Given the description of an element on the screen output the (x, y) to click on. 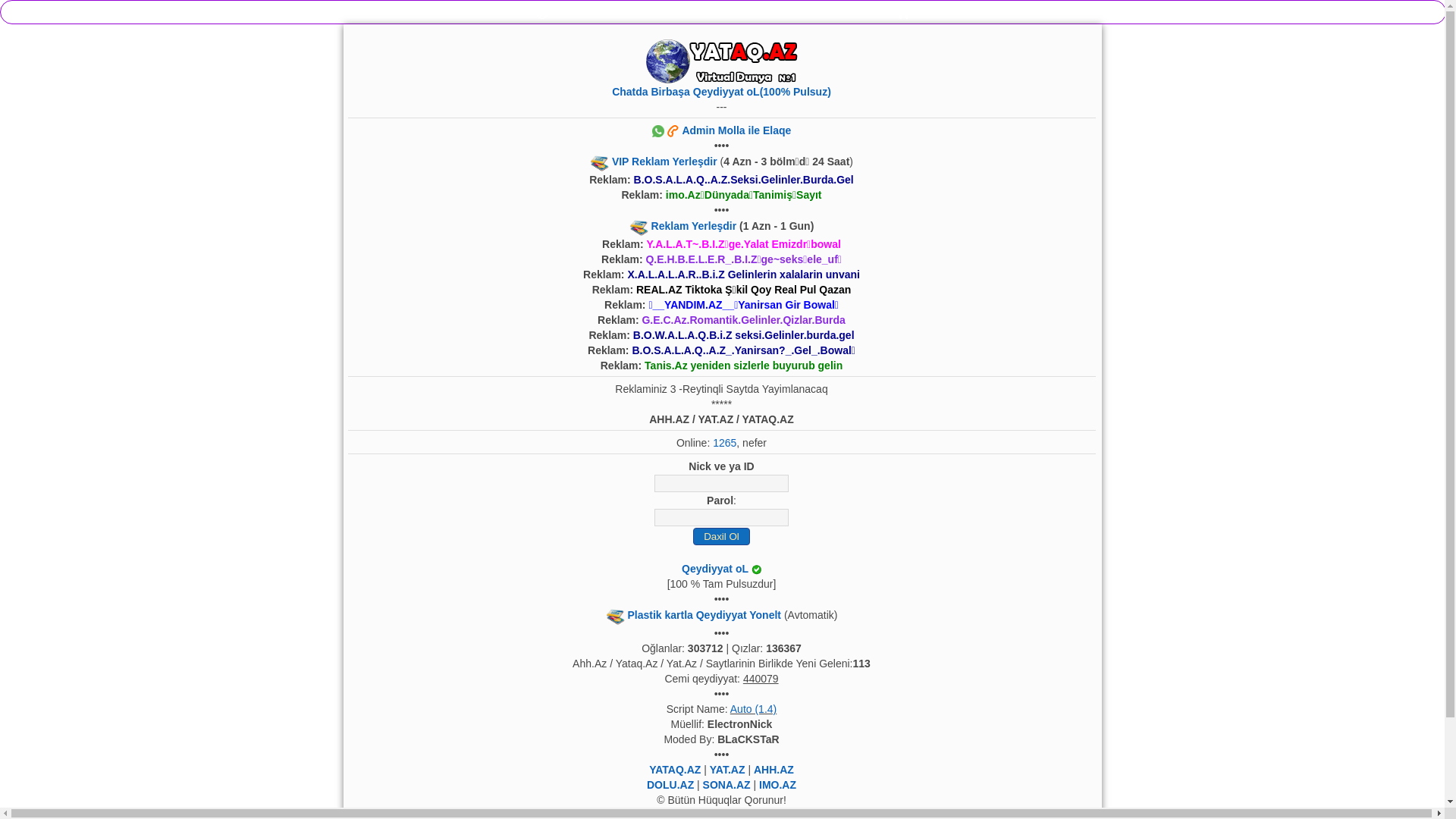
IMO.AZ Element type: text (777, 784)
Qurgular Element type: hover (1264, 11)
Bildirisler Element type: hover (541, 11)
Admin Molla ile Elaqe Element type: text (721, 130)
Daxil Ol Element type: text (721, 536)
X.A.L.A.L.A.R..B.i.Z Gelinlerin xalalarin unvani Element type: text (743, 274)
B.O.W.A.L.A.Q.B.i.Z seksi.Gelinler.burda.gel Element type: text (743, 335)
Mesajlar Element type: hover (180, 11)
Auto (1.4) Element type: text (753, 708)
nick Element type: hover (721, 483)
Plastik kartla Qeydiyyat Yonelt Element type: text (704, 614)
Qonaqlar Element type: hover (903, 11)
YAT.AZ Element type: text (727, 769)
AHH.AZ Element type: text (773, 769)
G.E.C.Az.Romantik.Gelinler.Qizlar.Burda Element type: text (742, 319)
DOLU.AZ Element type: text (669, 784)
YATAQ.AZ Element type: text (674, 769)
Parol Element type: hover (721, 517)
1265 Element type: text (724, 442)
B.O.S.A.L.A.Q..A.Z.Seksi.Gelinler.Burda.Gel Element type: text (743, 179)
Qeydiyyat oL Element type: text (714, 568)
SONA.AZ Element type: text (726, 784)
Tanis.Az yeniden sizlerle buyurub gelin Element type: text (743, 365)
